Given the description of an element on the screen output the (x, y) to click on. 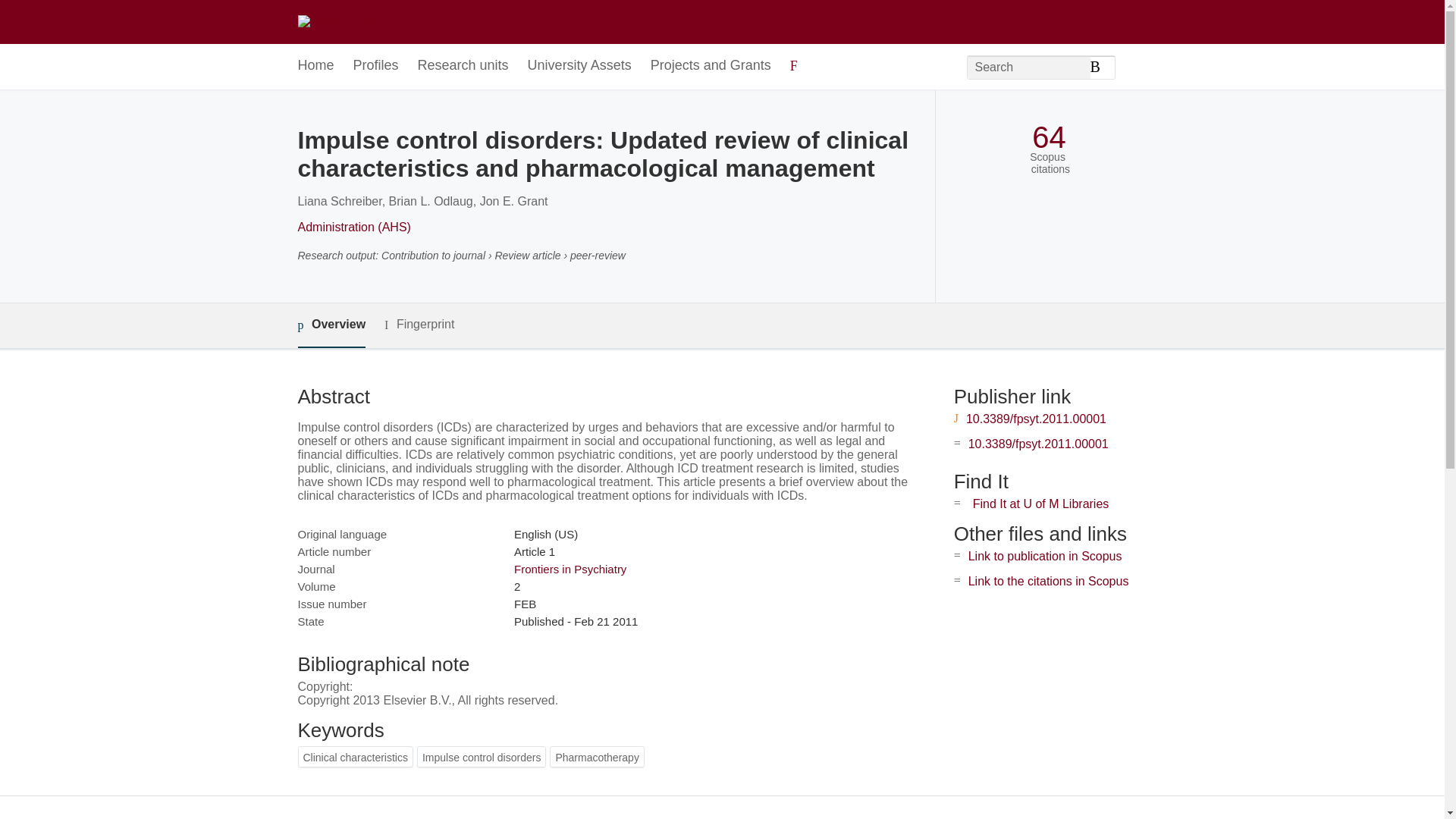
Link to the citations in Scopus (1048, 581)
Frontiers in Psychiatry (569, 568)
Find It at U of M Libraries (1040, 503)
University Assets (579, 66)
Profiles (375, 66)
64 (1048, 137)
Overview (331, 325)
Research units (462, 66)
Link to publication in Scopus (1045, 555)
